Given the description of an element on the screen output the (x, y) to click on. 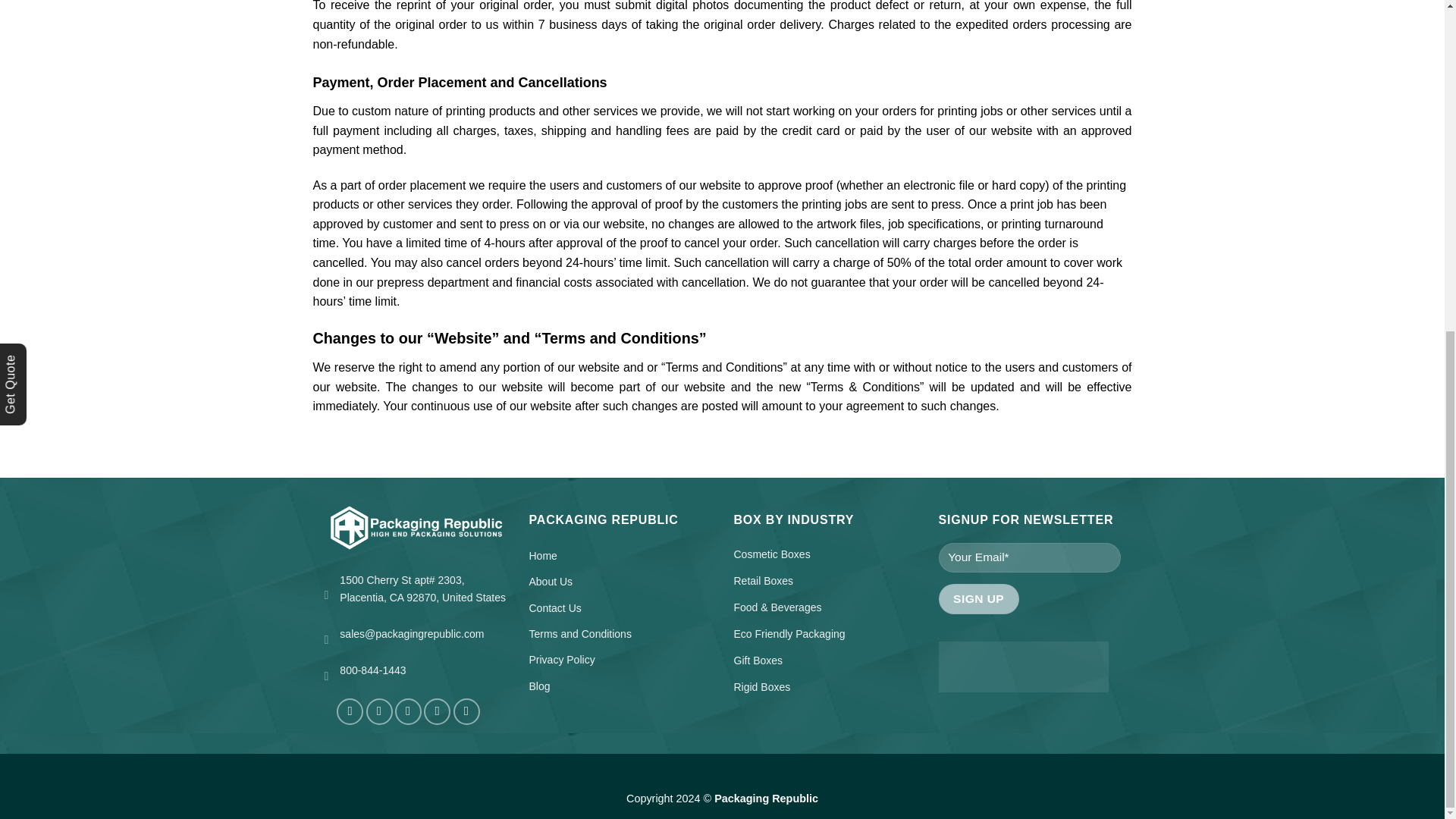
Follow on Facebook (349, 711)
Follow on Twitter (408, 711)
Follow on Pinterest (436, 711)
Follow on YouTube (466, 711)
Follow on Instagram (379, 711)
Sign Up (979, 598)
